Given the description of an element on the screen output the (x, y) to click on. 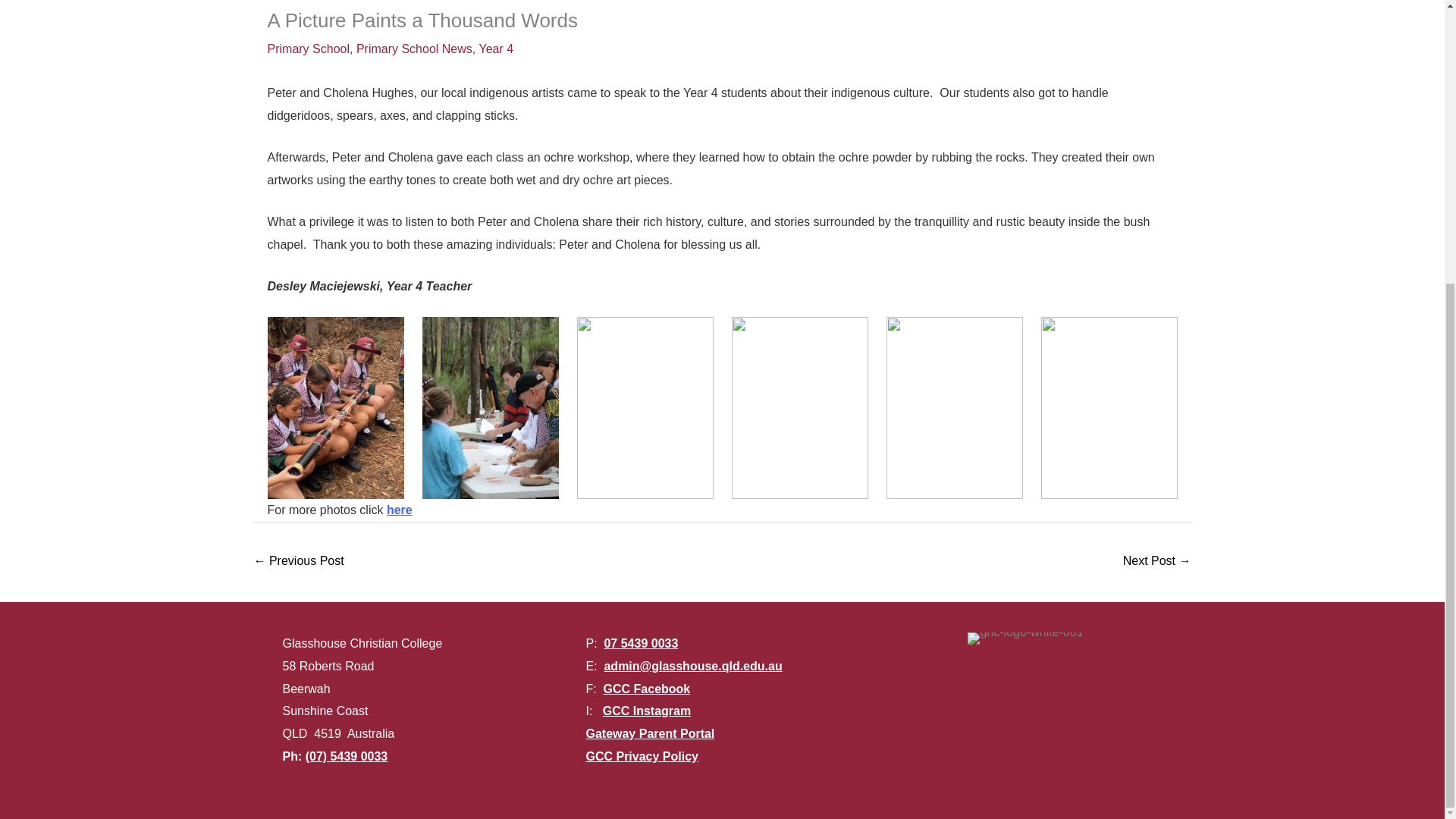
Making Memories - Year 12 Song (1156, 561)
Athletes Shine Brightly at State Championships (298, 561)
ghc-logo-white-001 (1025, 638)
